Given the description of an element on the screen output the (x, y) to click on. 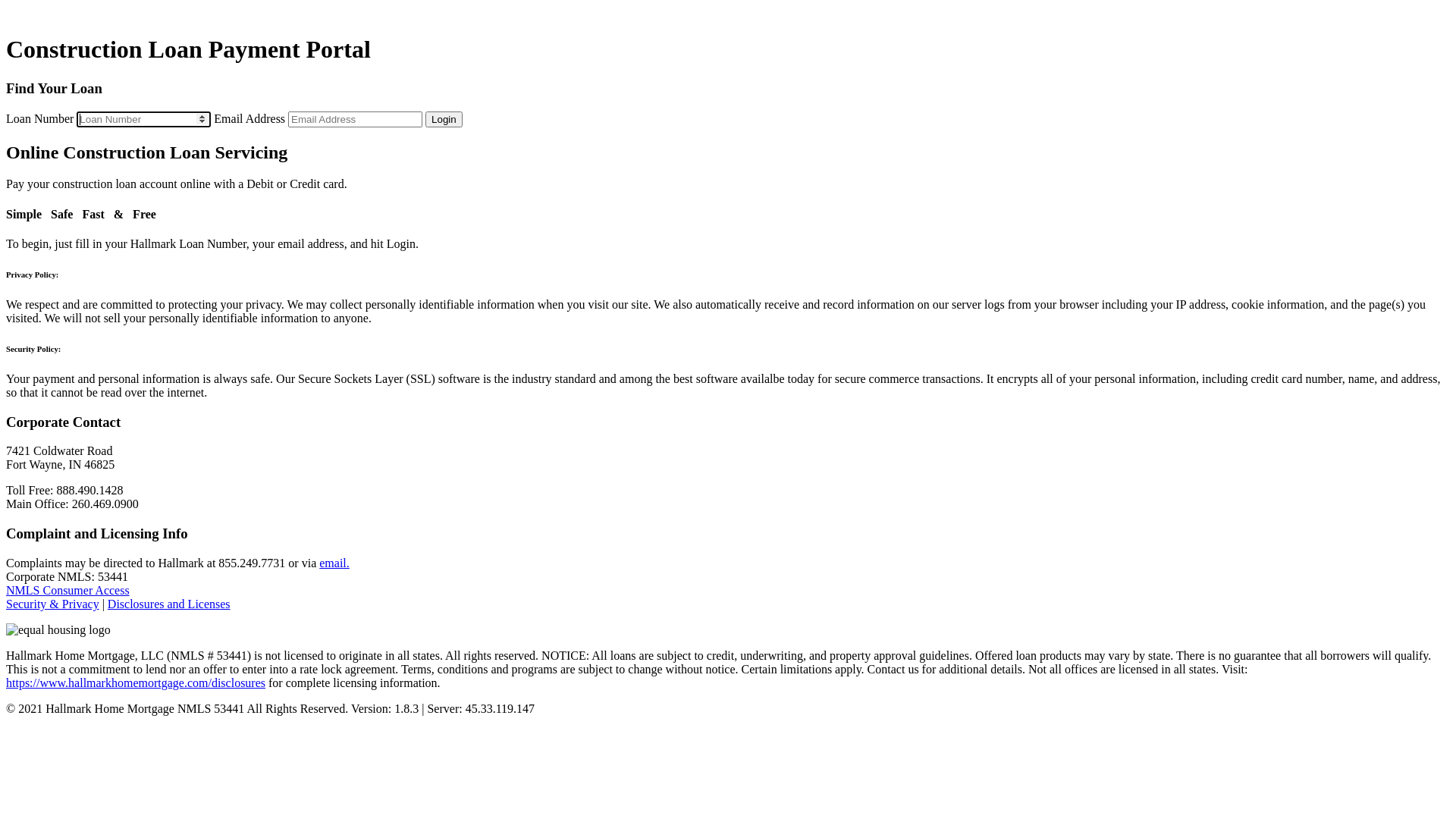
equal housing lender Element type: hover (58, 630)
Security & Privacy Element type: text (52, 603)
NMLS Consumer Access Element type: text (67, 589)
Login Element type: text (443, 119)
email. Element type: text (334, 562)
https://www.hallmarkhomemortgage.com/disclosures Element type: text (135, 682)
Disclosures and Licenses Element type: text (168, 603)
